Given the description of an element on the screen output the (x, y) to click on. 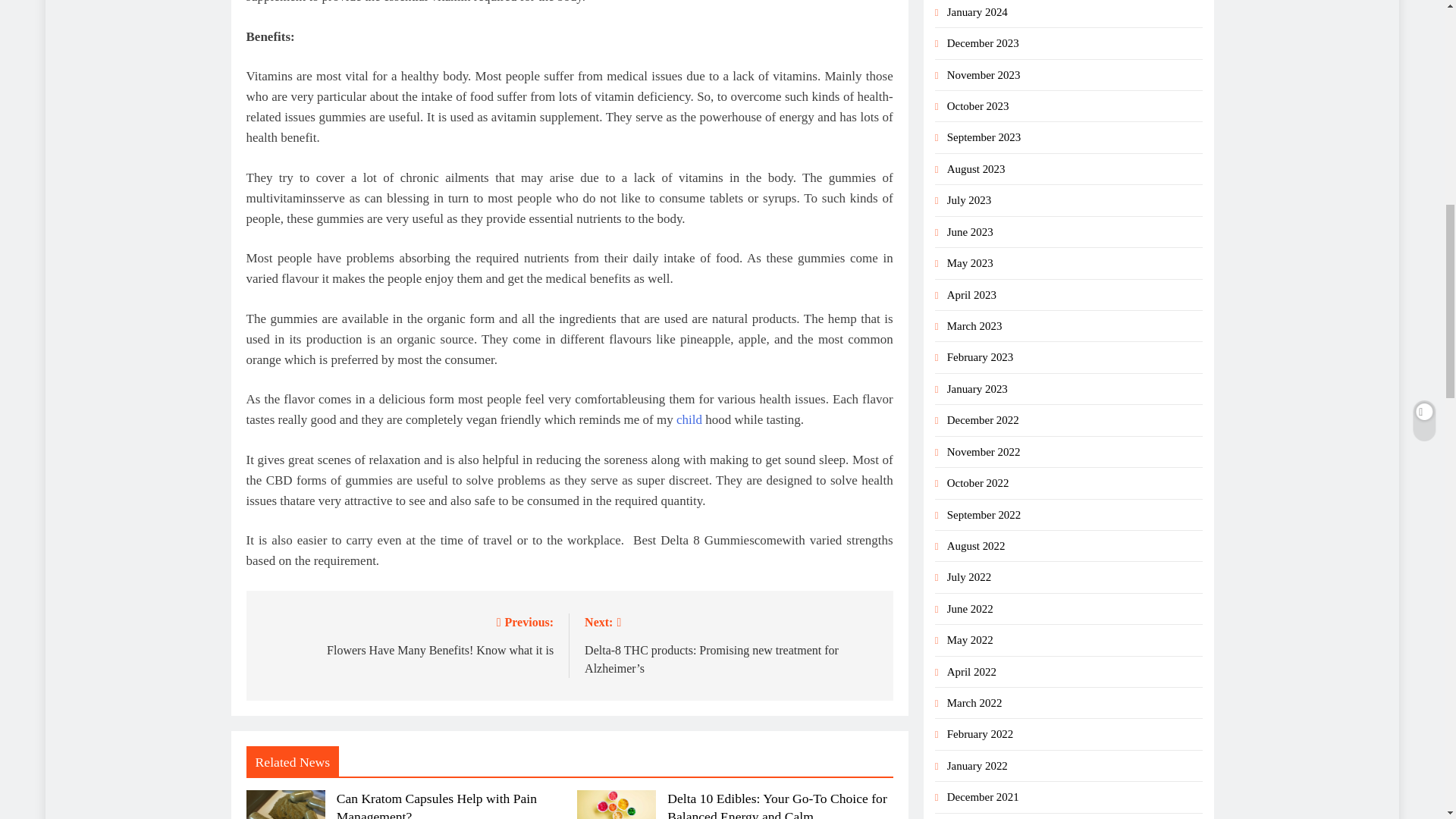
Can Kratom Capsules Help with Pain Management? (436, 805)
child (406, 634)
